Given the description of an element on the screen output the (x, y) to click on. 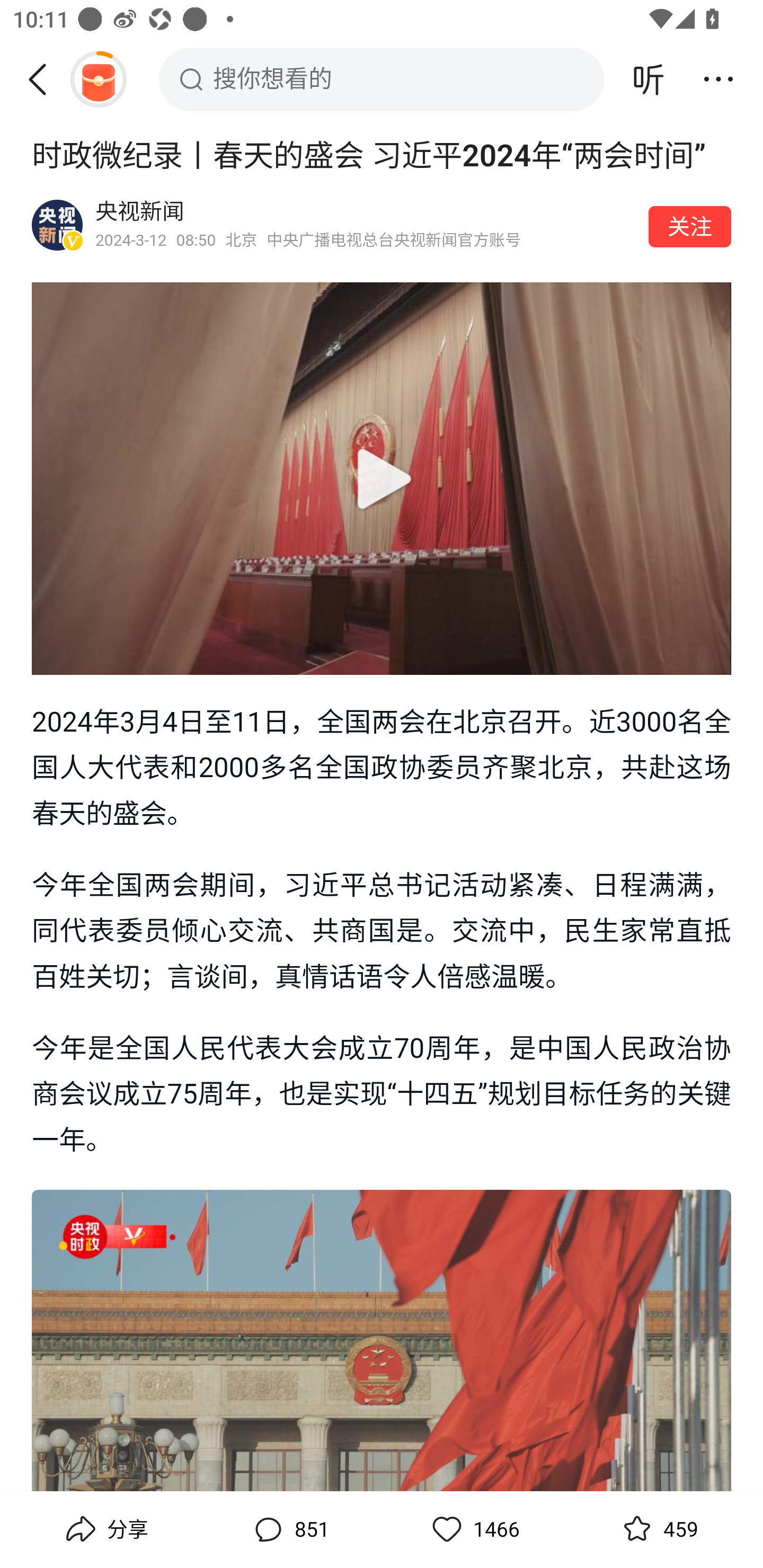
返回 (44, 78)
听头条 (648, 78)
更多操作 (718, 78)
搜你想看的 搜索框，搜你想看的 (381, 79)
阅读赚金币 (98, 79)
作者：央视新闻，简介：中央广播电视总台央视新闻官方账号，2024-3-12 08:50发布，北京 (365, 224)
关注作者 (689, 226)
播放视频 (381, 477)
播放视频 (381, 478)
图片，点击识别内容 (381, 1340)
分享 (104, 1529)
评论,851 851 (288, 1529)
收藏,459 459 (658, 1529)
